Given the description of an element on the screen output the (x, y) to click on. 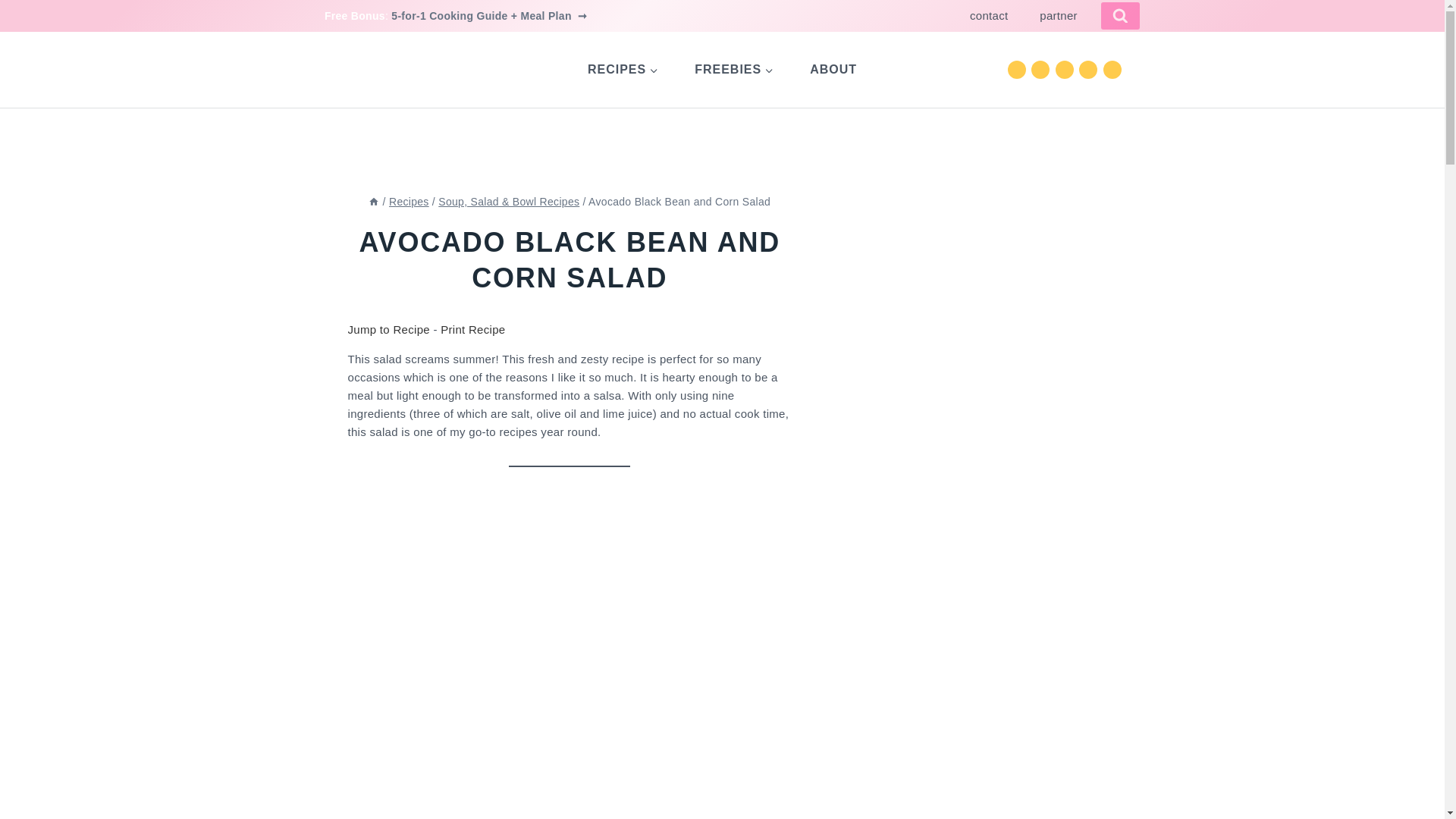
ABOUT (833, 69)
FREEBIES (734, 69)
Recipes (408, 201)
partner (1058, 15)
Jump to Recipe (388, 328)
RECIPES (623, 69)
Print Recipe (473, 328)
Home (373, 201)
contact (988, 15)
